Given the description of an element on the screen output the (x, y) to click on. 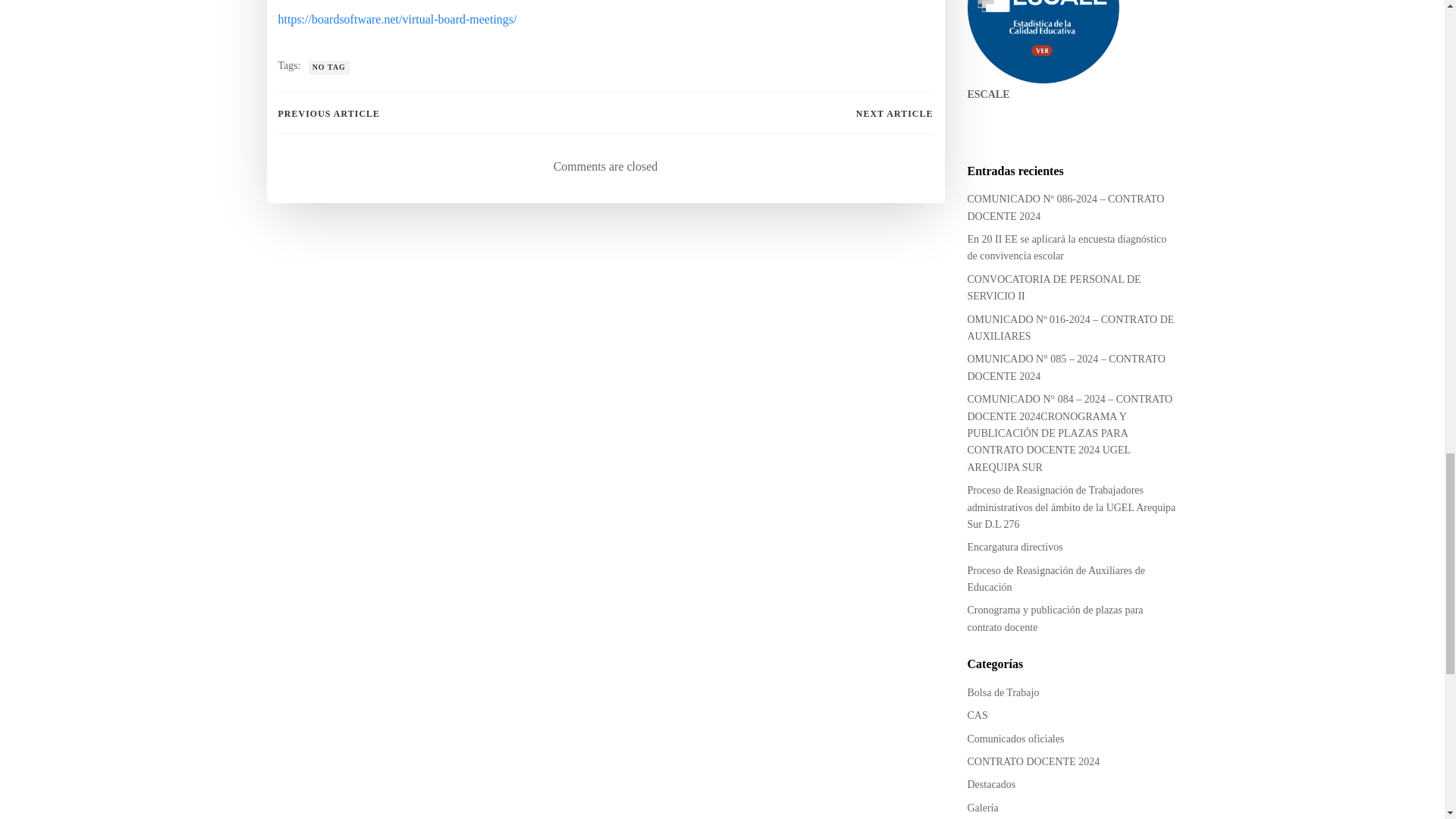
CONVOCATORIA DE PERSONAL DE SERVICIO II (1054, 287)
PREVIOUS ARTICLE (329, 113)
NEXT ARTICLE (894, 113)
